Given the description of an element on the screen output the (x, y) to click on. 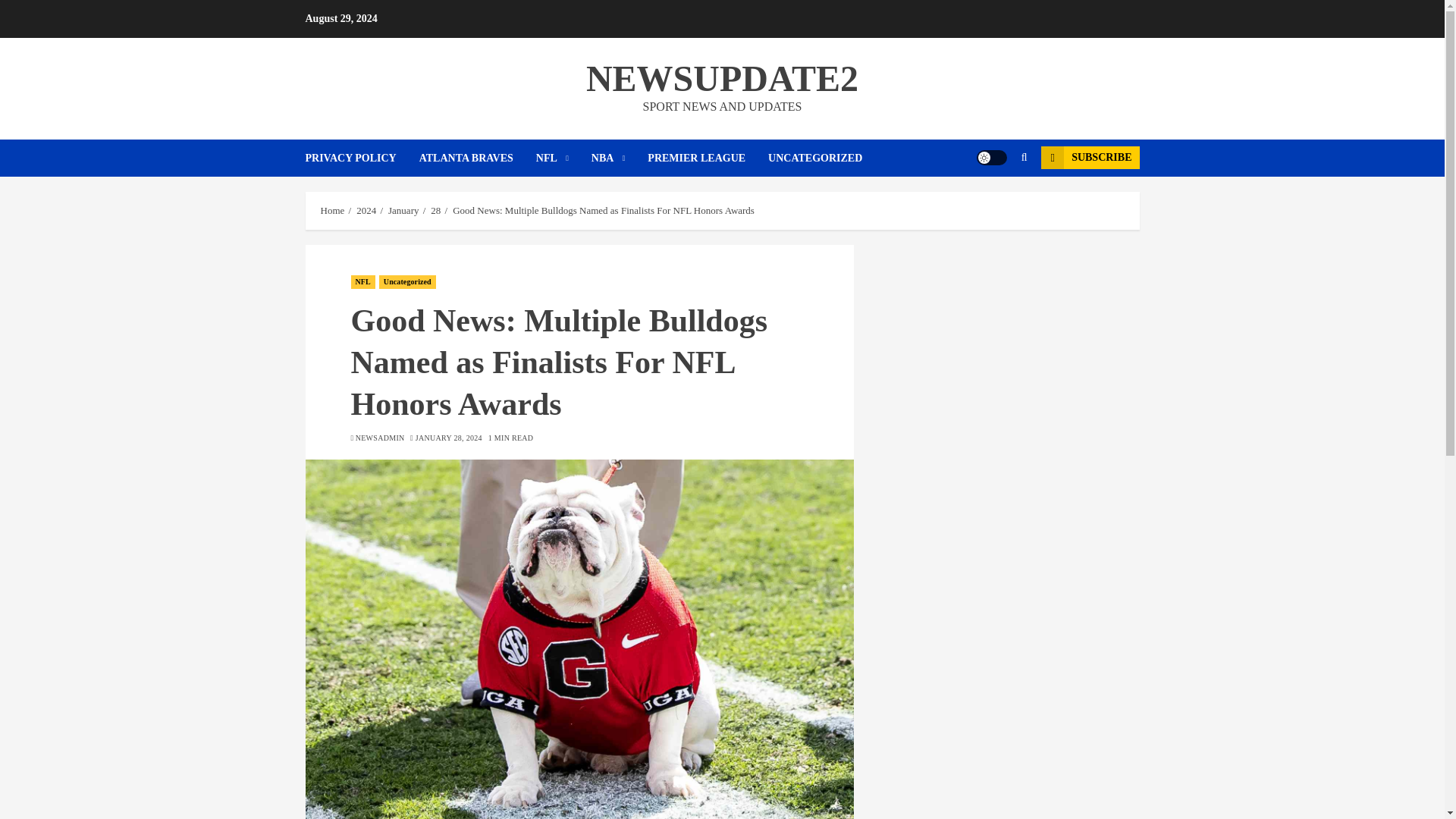
Home (331, 210)
January (403, 210)
NFL (362, 282)
NFL (563, 157)
ATLANTA BRAVES (477, 157)
NEWSADMIN (379, 438)
JANUARY 28, 2024 (447, 438)
Search (994, 203)
SUBSCRIBE (1089, 157)
